Given the description of an element on the screen output the (x, y) to click on. 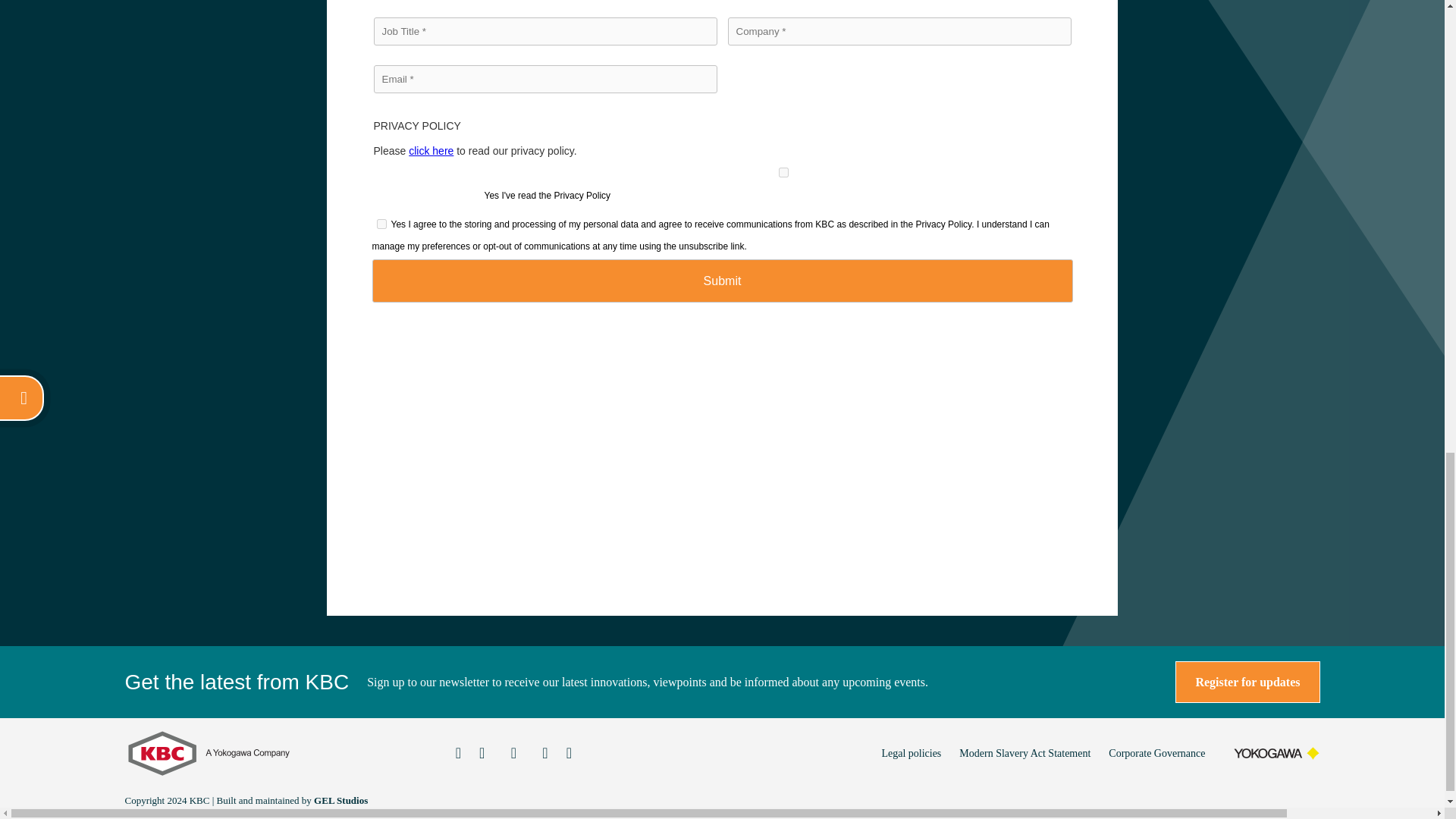
Yokogawa (1275, 753)
